Given the description of an element on the screen output the (x, y) to click on. 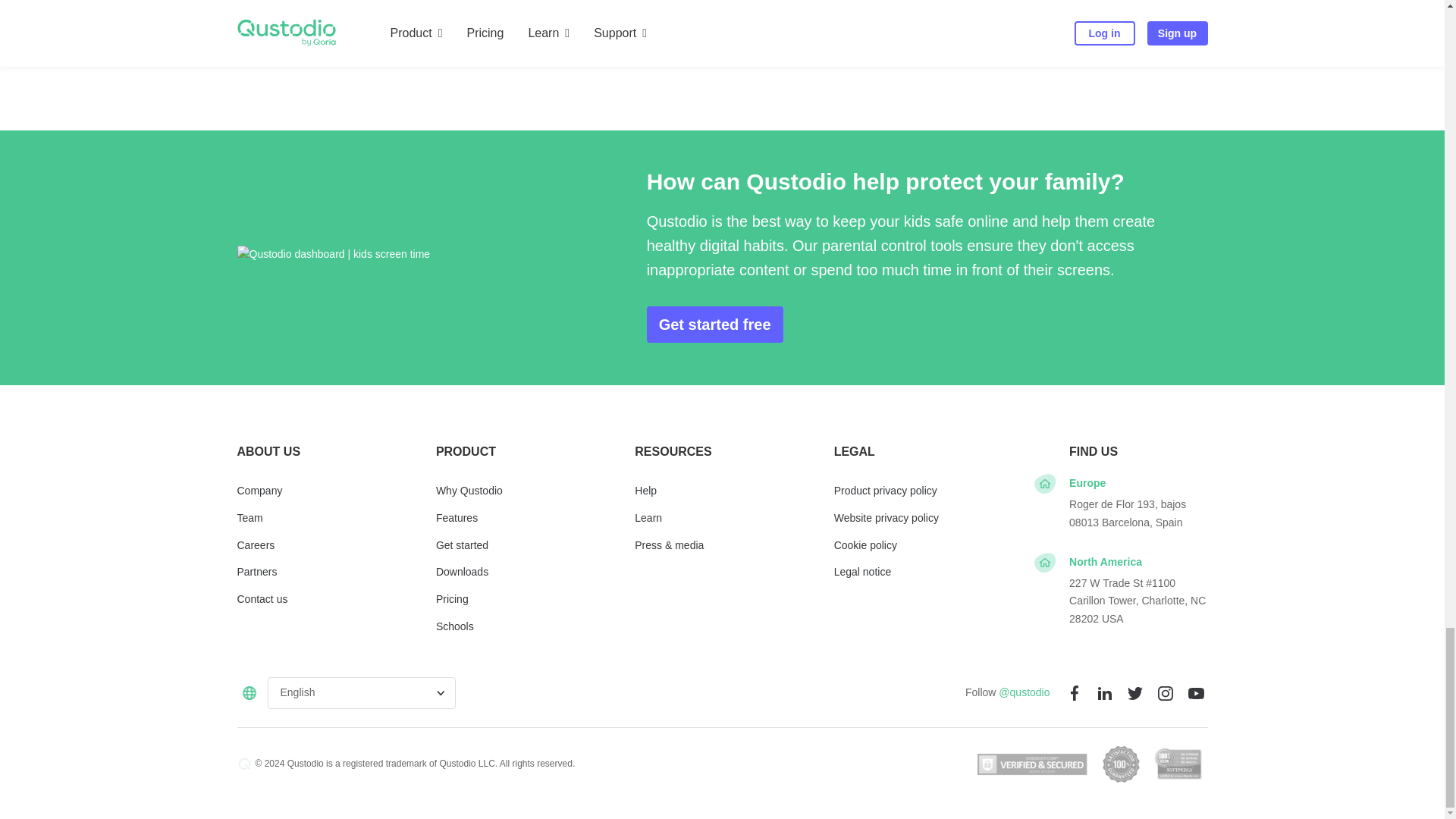
Get started free (714, 324)
LinkedIn (1104, 692)
Facebook (1073, 692)
